Given the description of an element on the screen output the (x, y) to click on. 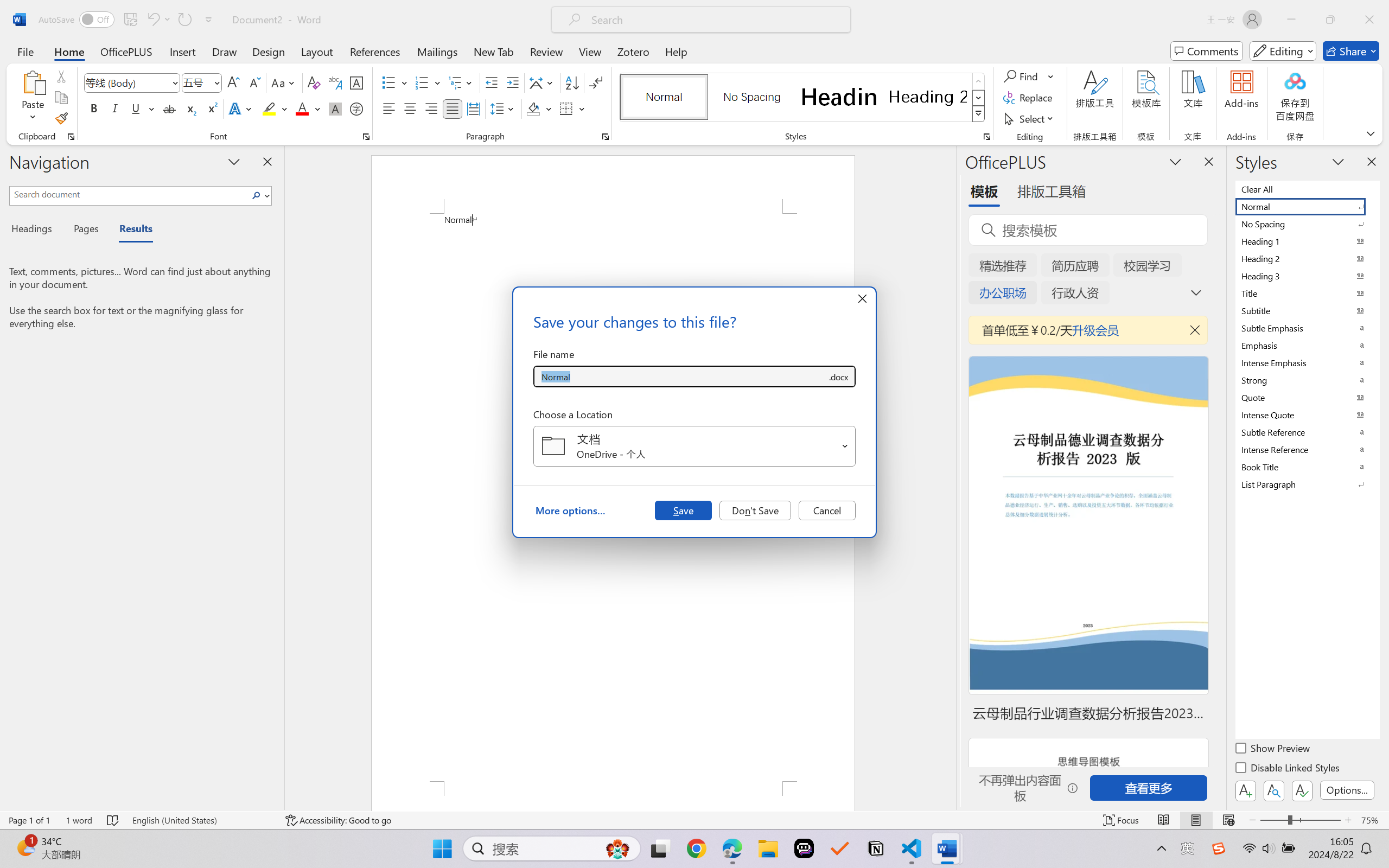
Book Title (1306, 466)
Options... (1346, 789)
Share (1350, 51)
Design (268, 51)
Zoom Out (1273, 819)
Zoom (1300, 819)
Zotero (632, 51)
Subtle Reference (1306, 431)
Shading (539, 108)
File name (680, 376)
